Given the description of an element on the screen output the (x, y) to click on. 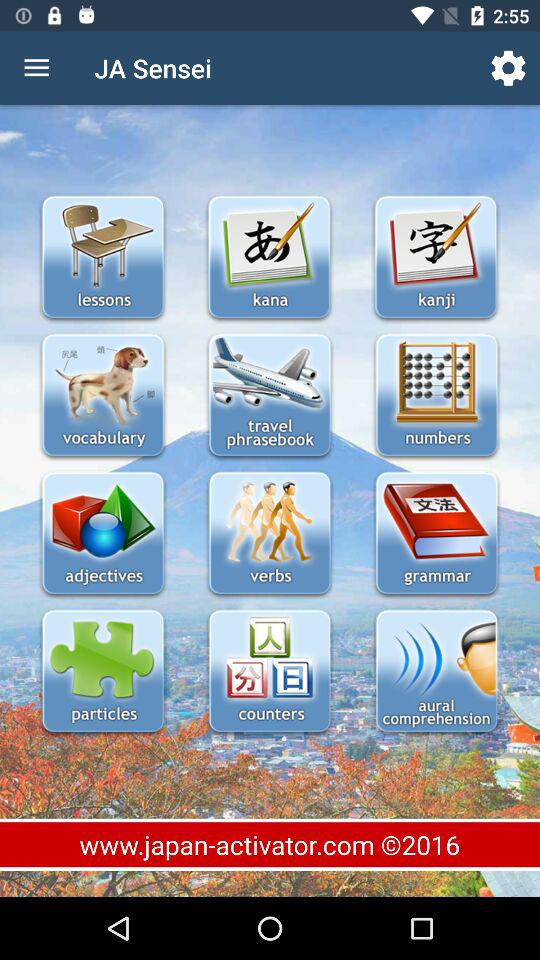
study of verbs (269, 534)
